Given the description of an element on the screen output the (x, y) to click on. 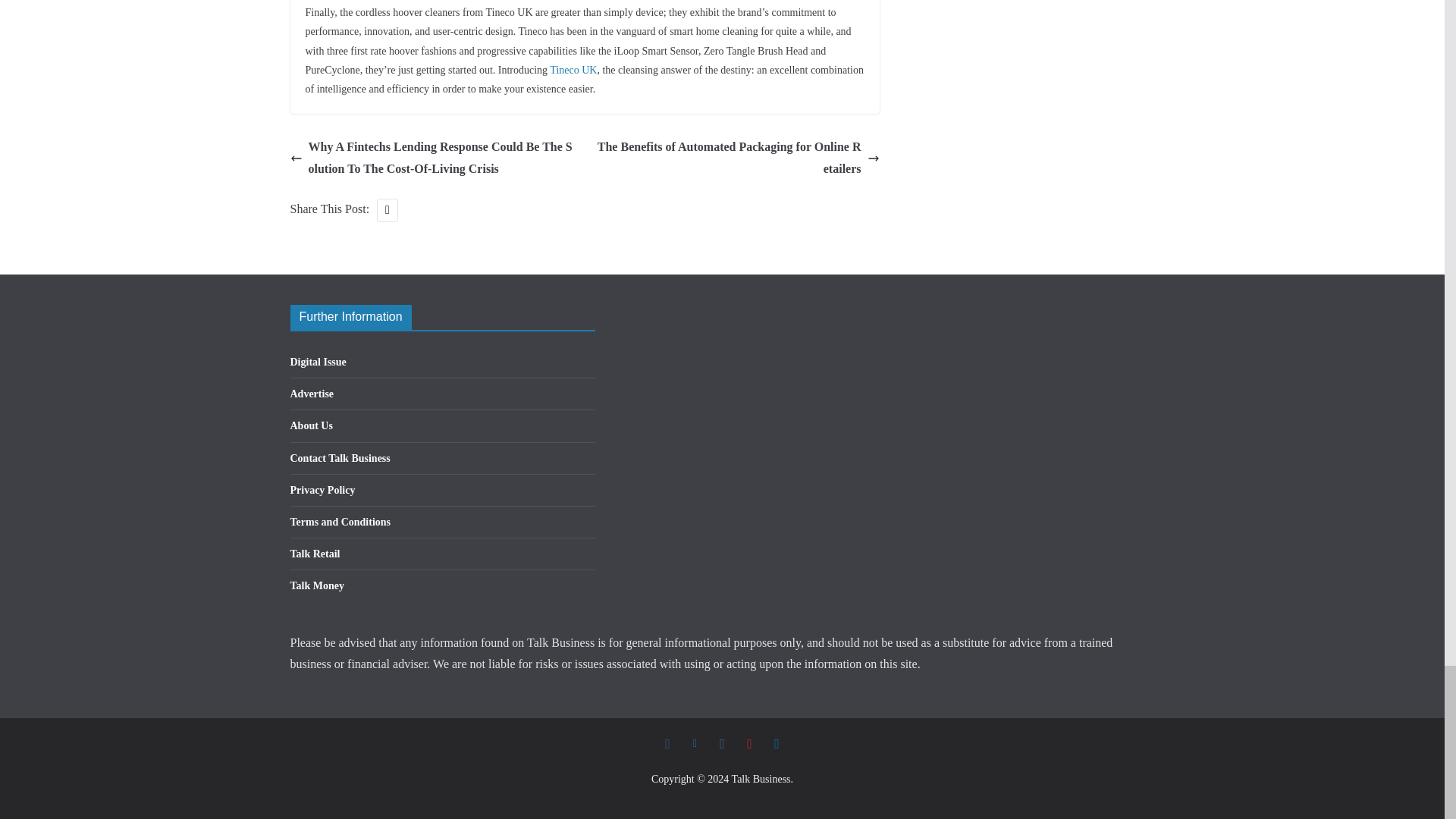
The Benefits of Automated Packaging for Online Retailers (735, 158)
Tineco UK (573, 70)
